Given the description of an element on the screen output the (x, y) to click on. 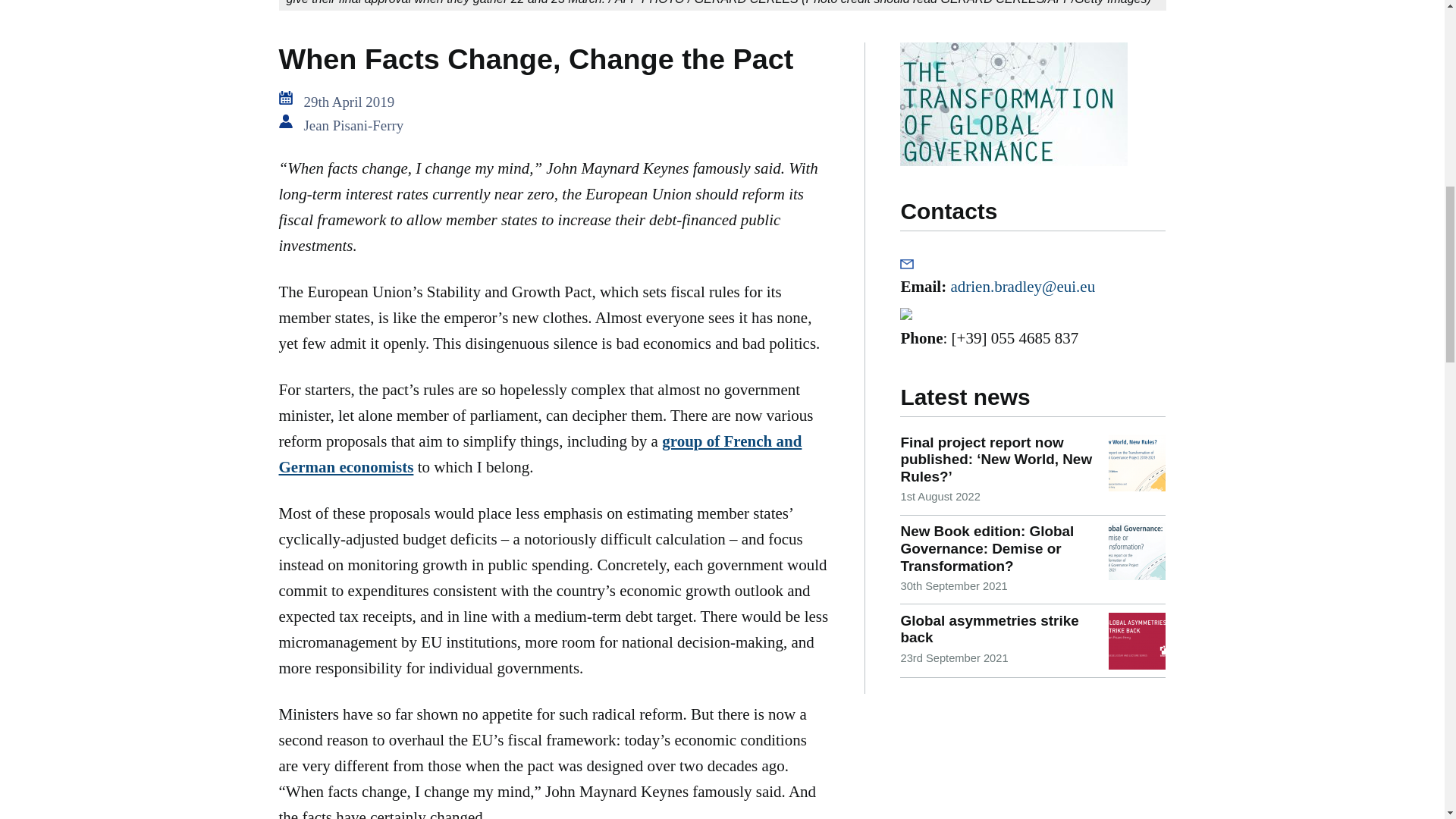
Global asymmetries strike back (988, 629)
group of French and German economists (540, 453)
